Given the description of an element on the screen output the (x, y) to click on. 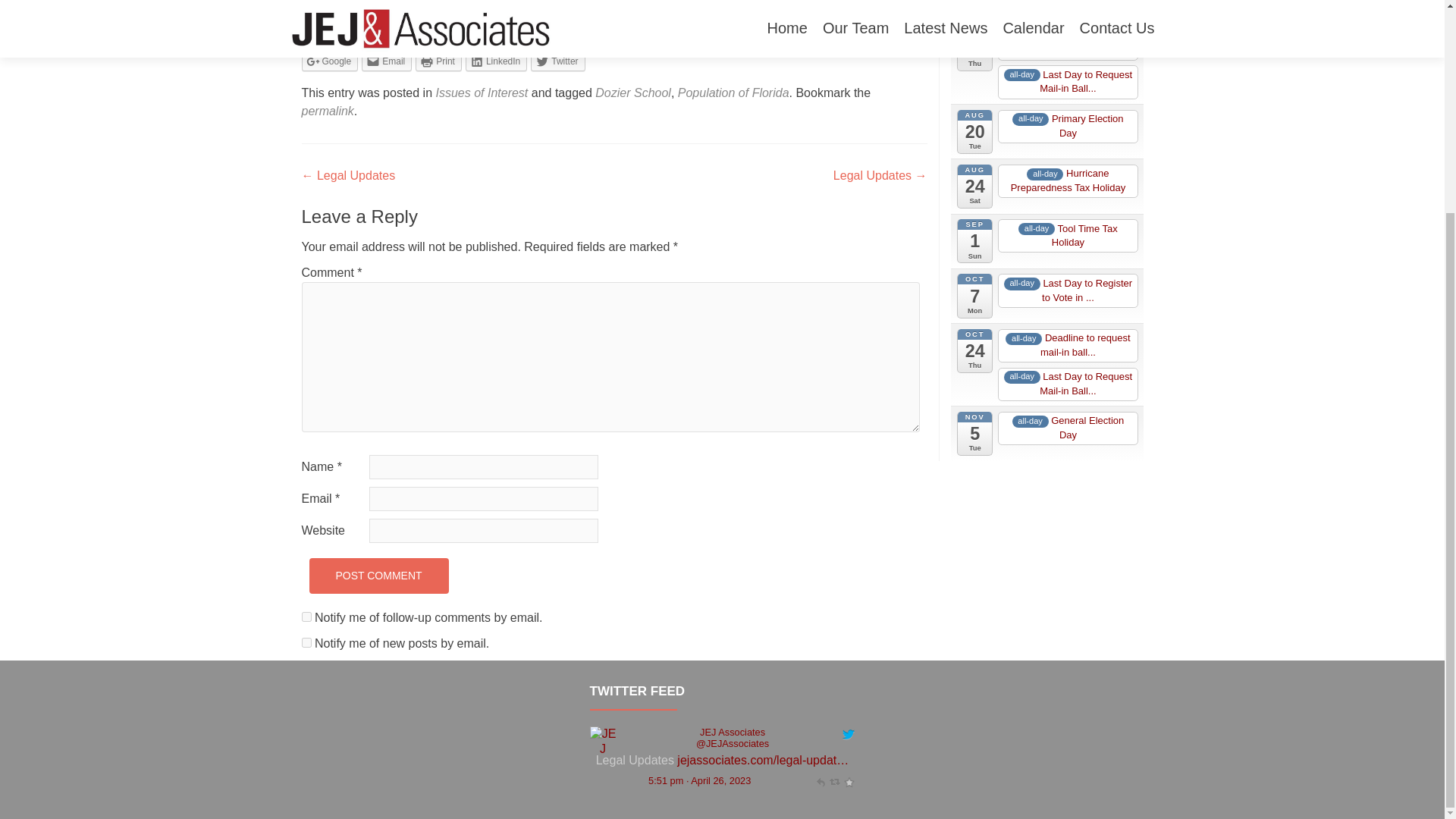
Post Comment (378, 575)
Click to share on Twitter (558, 61)
Print (437, 61)
Click to print (437, 61)
Post Comment (378, 575)
permalink (327, 110)
Issues of Interest (481, 92)
subscribe (306, 642)
Email (386, 61)
Google (329, 61)
Population of Florida (733, 92)
Click to share on LinkedIn (496, 61)
Dozier School (633, 92)
LinkedIn (496, 61)
subscribe (306, 616)
